Given the description of an element on the screen output the (x, y) to click on. 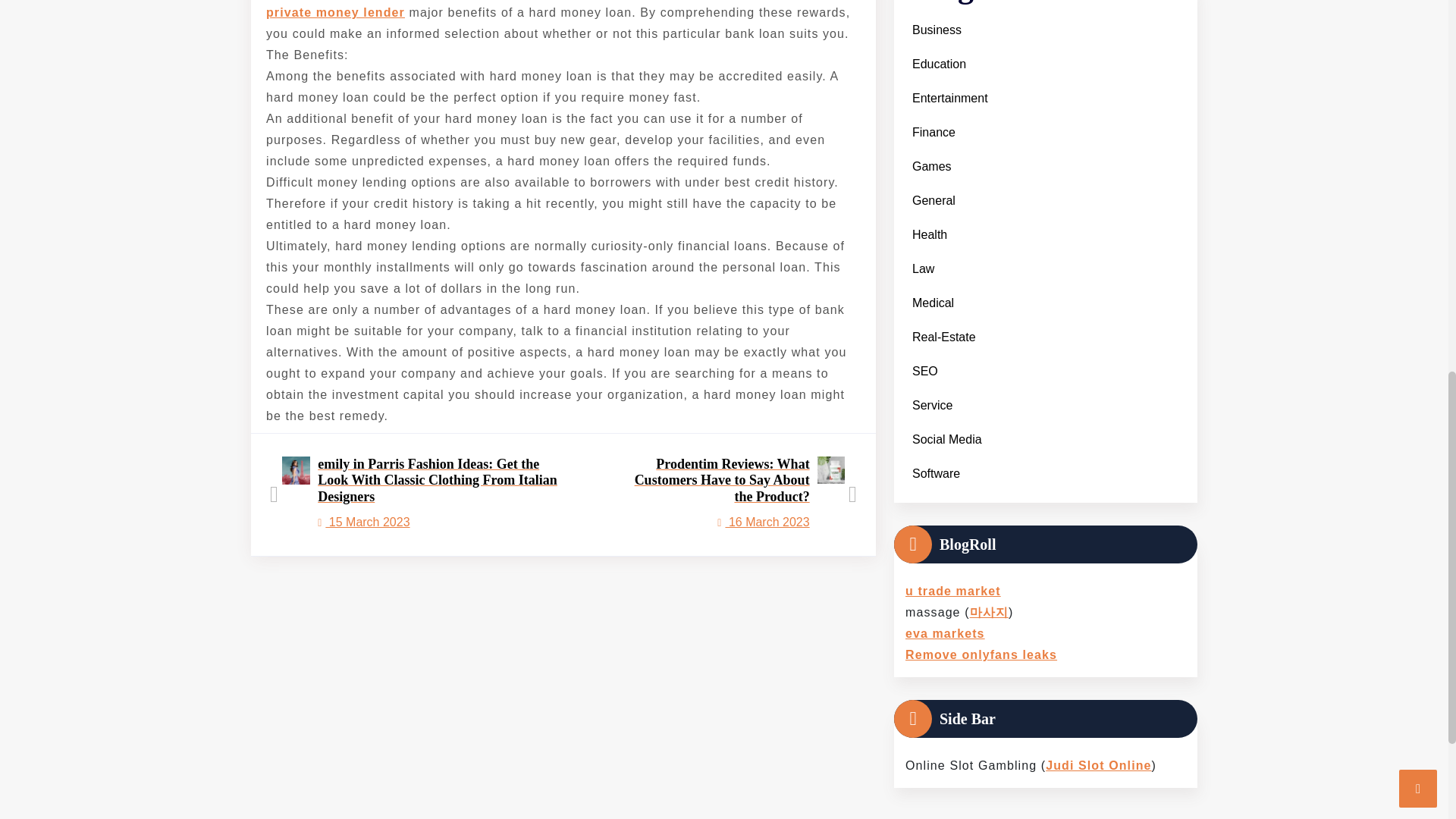
Games (931, 166)
General (933, 200)
Health (929, 234)
Finance (933, 131)
Entertainment (949, 98)
private money lender (335, 11)
Education (938, 63)
Business (935, 29)
